Given the description of an element on the screen output the (x, y) to click on. 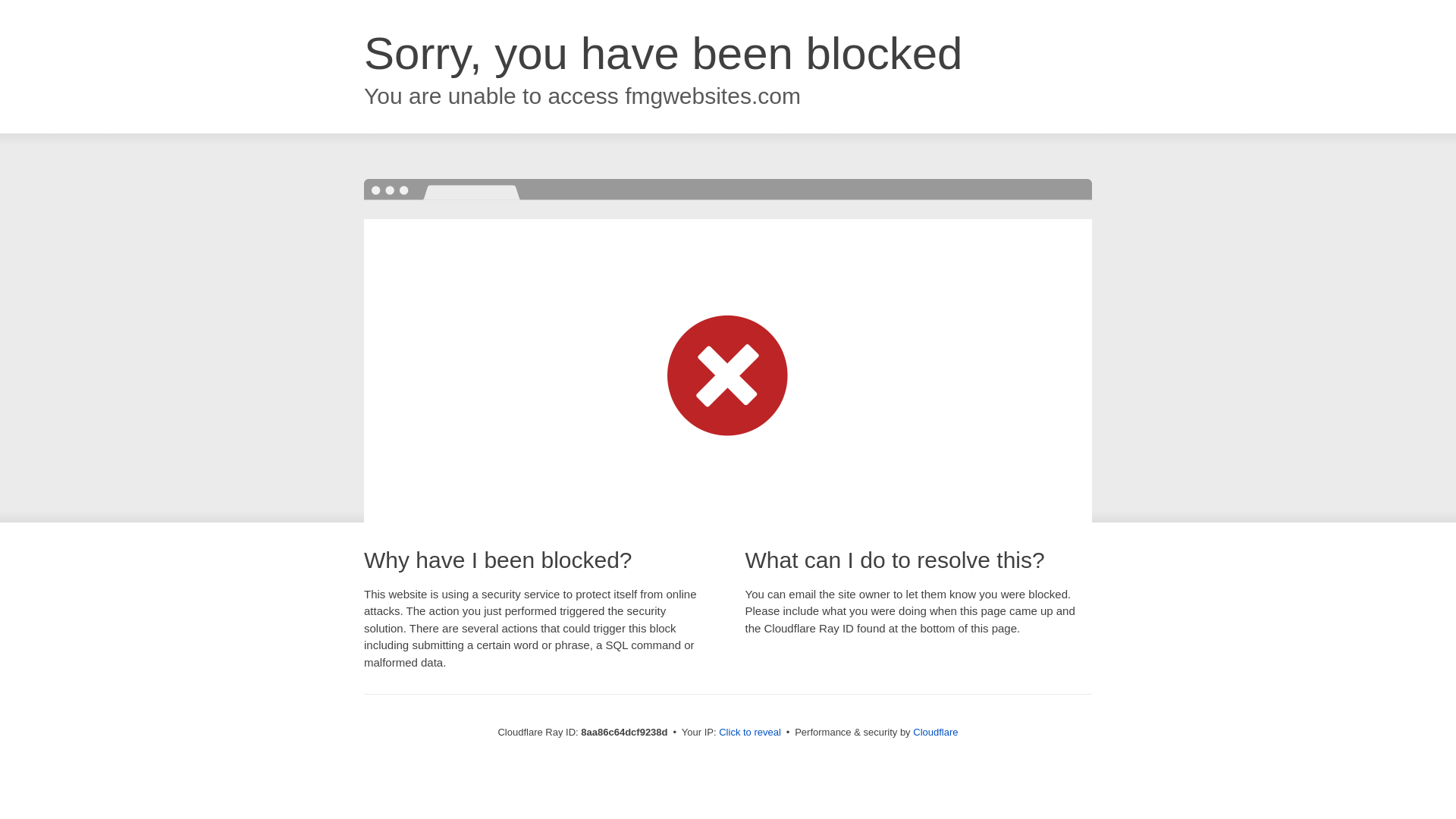
Cloudflare (935, 731)
Click to reveal (749, 732)
